Given the description of an element on the screen output the (x, y) to click on. 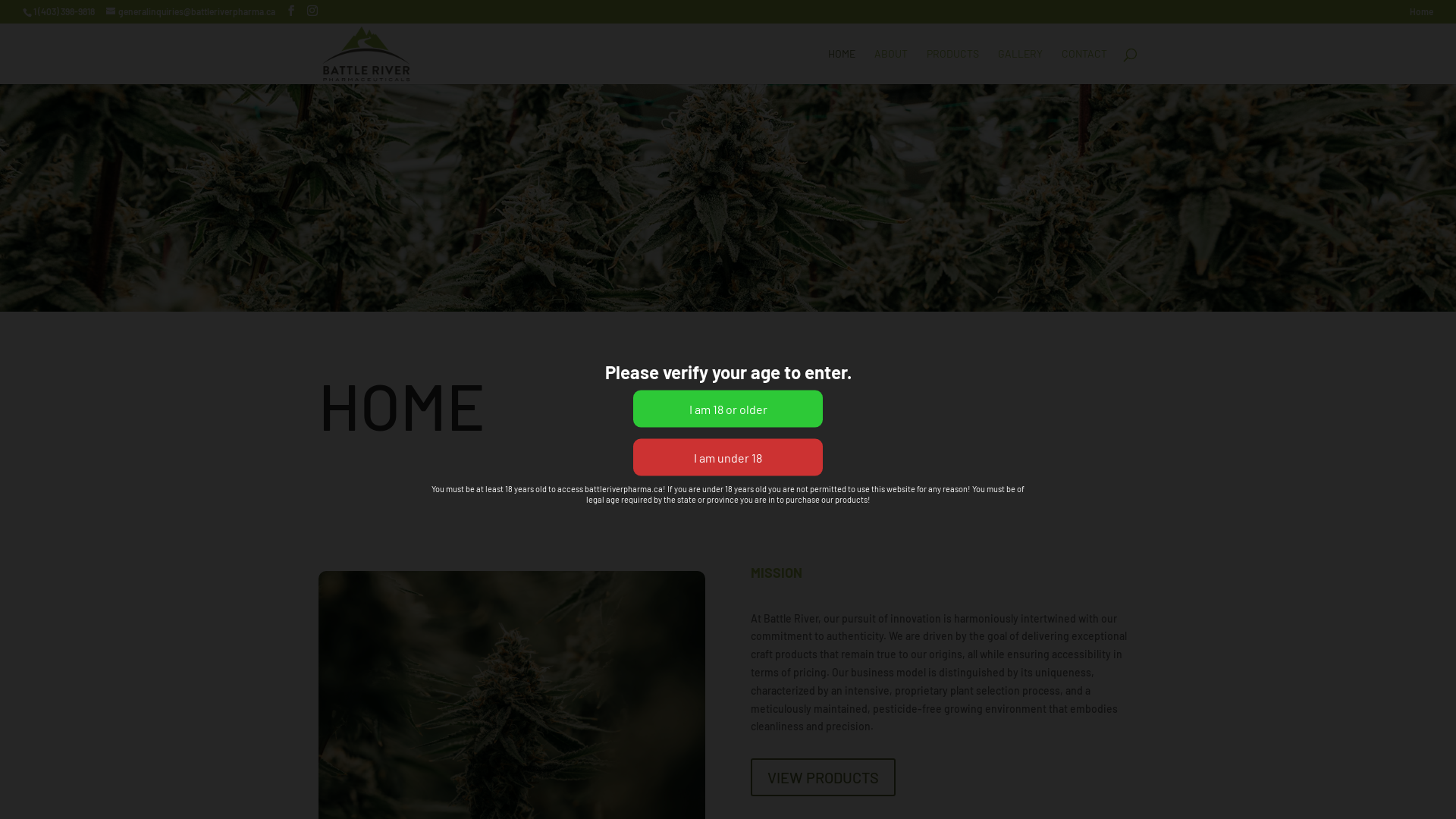
CONTACT Element type: text (1084, 66)
ABOUT Element type: text (890, 66)
HOME Element type: text (841, 66)
GALLERY Element type: text (1019, 66)
PRODUCTS Element type: text (952, 66)
generalinquiries@battleriverpharma.ca Element type: text (190, 11)
VIEW PRODUCTS Element type: text (822, 777)
Home Element type: text (1421, 14)
